Given the description of an element on the screen output the (x, y) to click on. 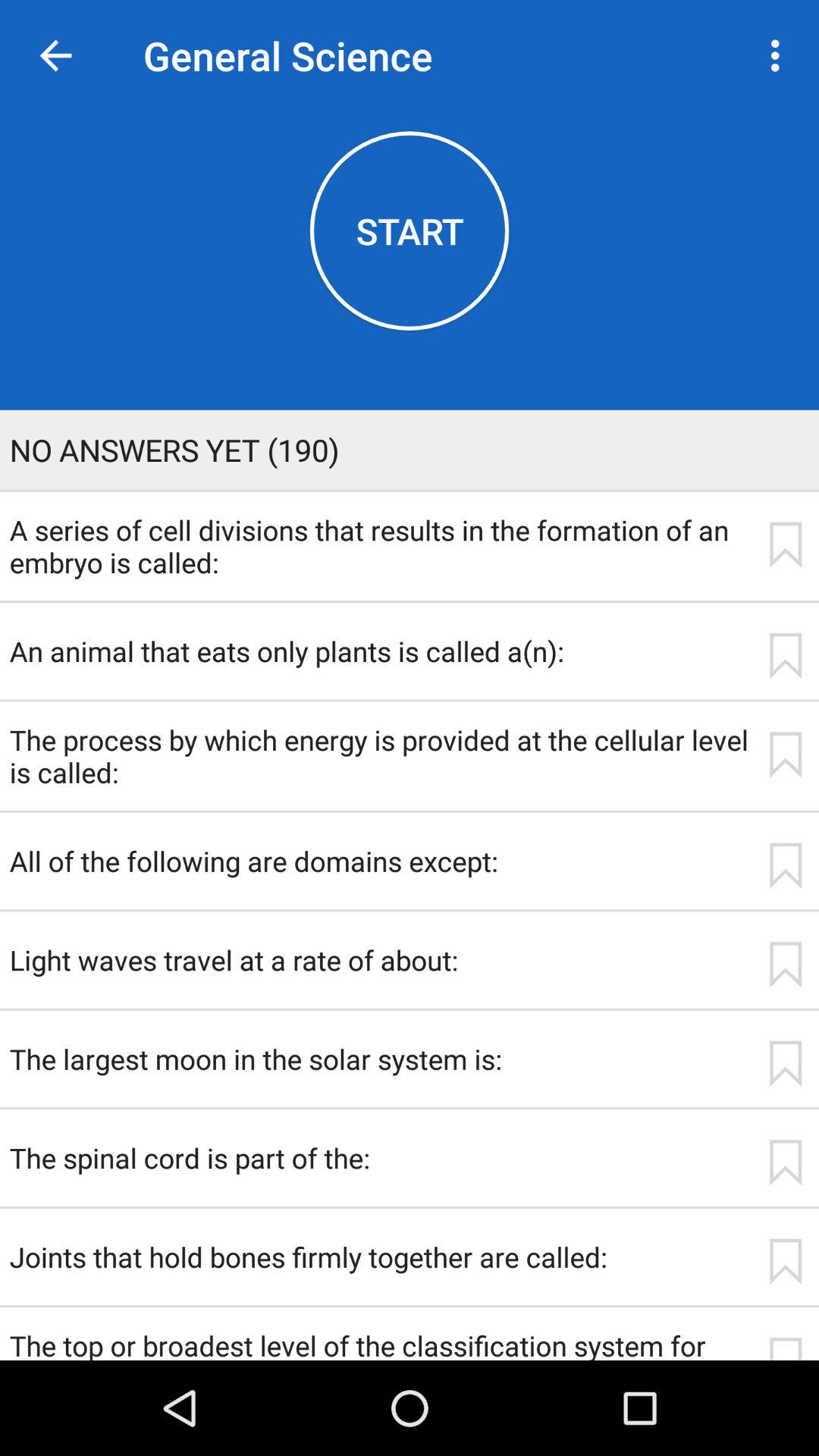
turn on icon to the right of the the largest moon icon (784, 1063)
